Given the description of an element on the screen output the (x, y) to click on. 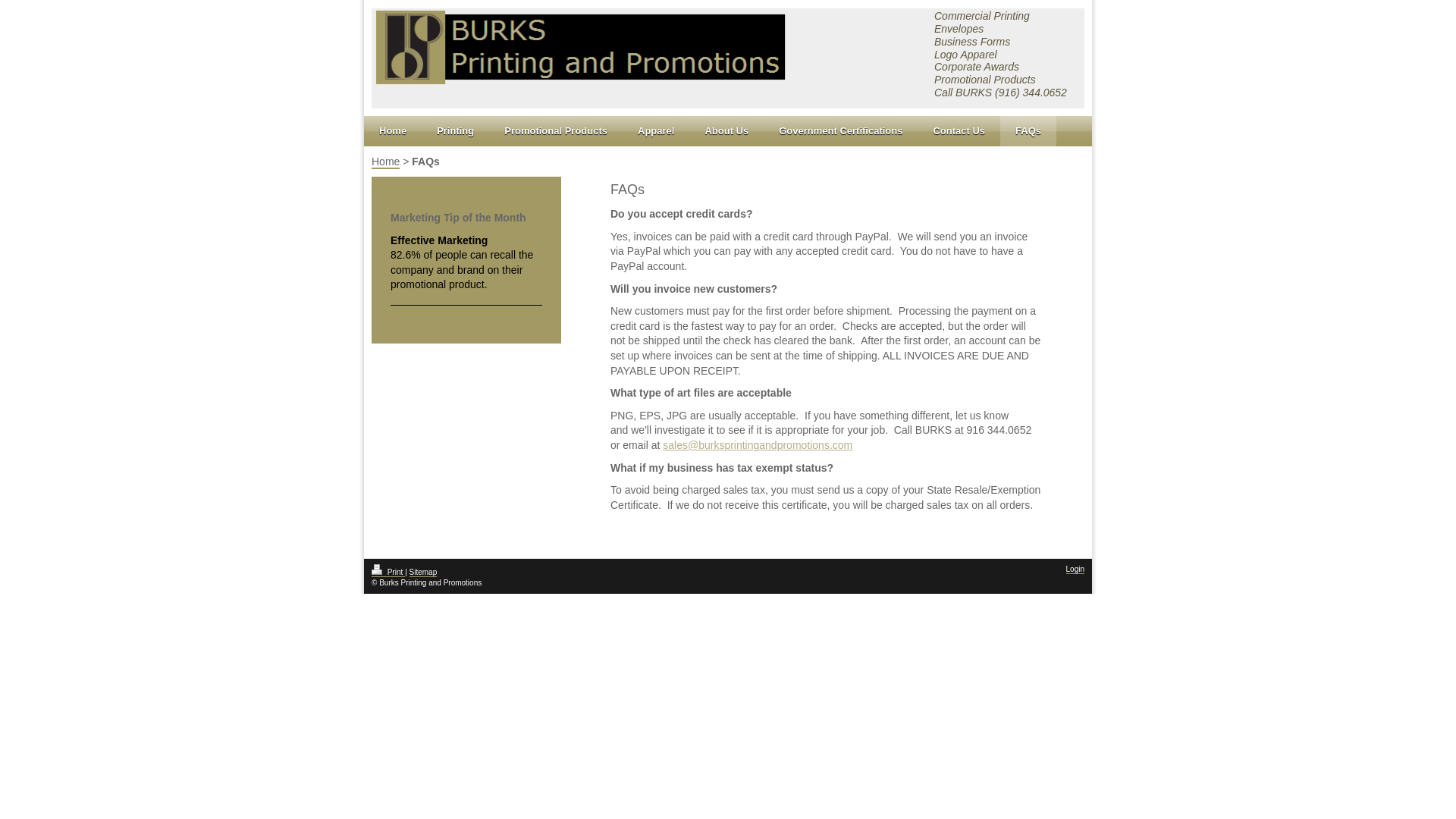
Print (387, 572)
Promotional Products (556, 131)
FAQs (1028, 131)
Sitemap (423, 572)
Printing (455, 131)
About Us (725, 131)
Government Certifications (839, 131)
Home (393, 131)
Login (1074, 569)
Contact Us (958, 131)
Home (384, 161)
Apparel (655, 131)
